Given the description of an element on the screen output the (x, y) to click on. 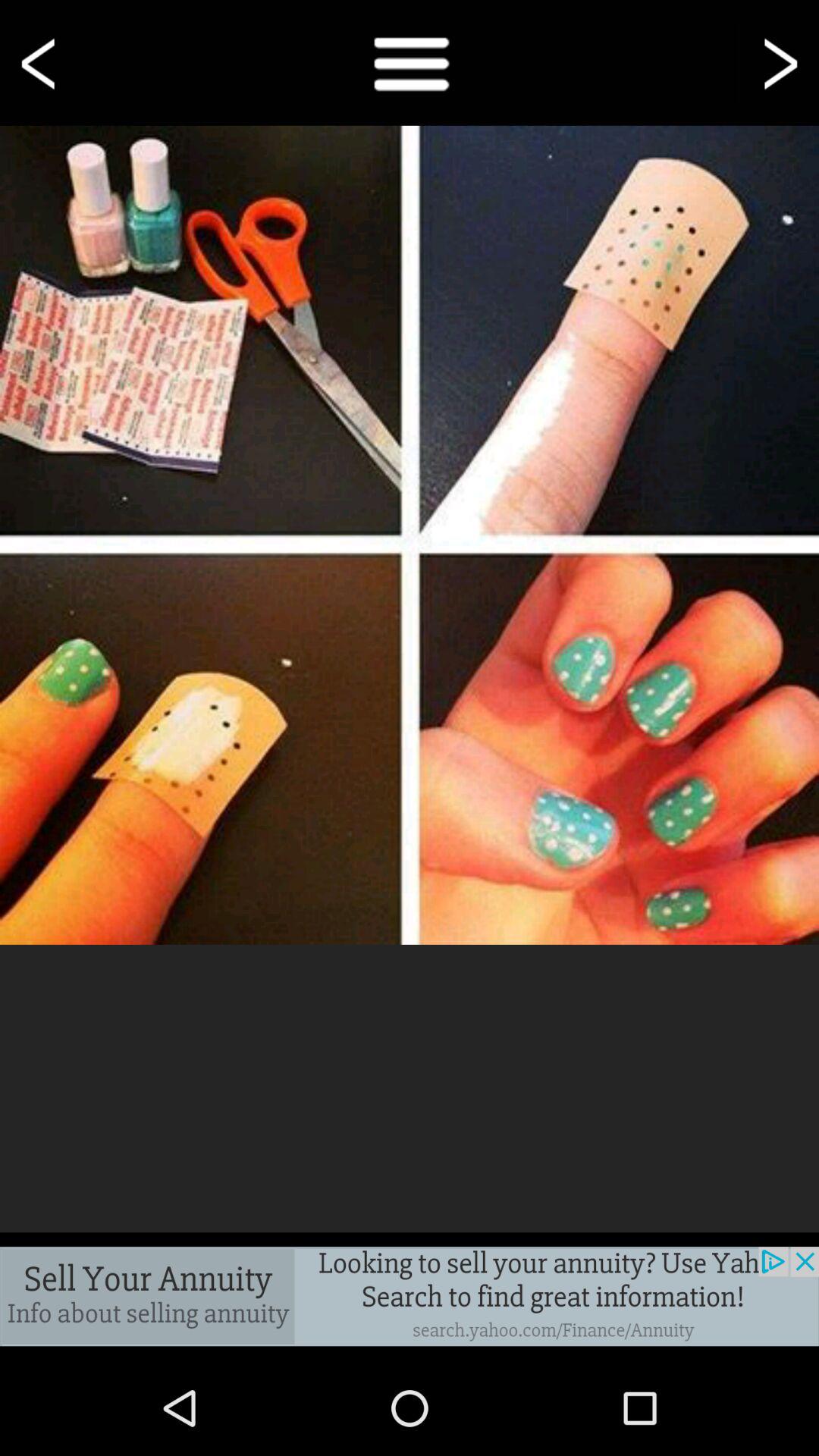
banner advertisements (409, 1296)
